Given the description of an element on the screen output the (x, y) to click on. 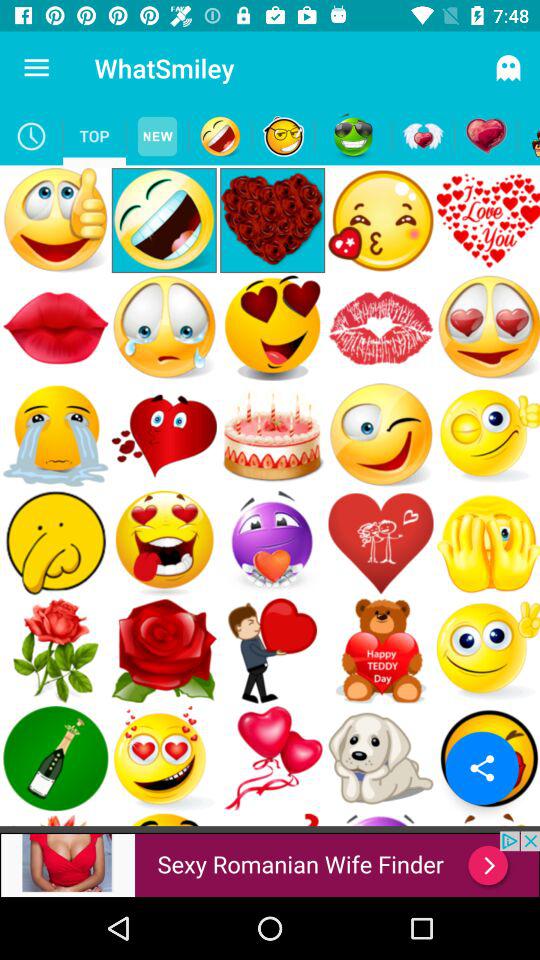
view new emojis (157, 136)
